Given the description of an element on the screen output the (x, y) to click on. 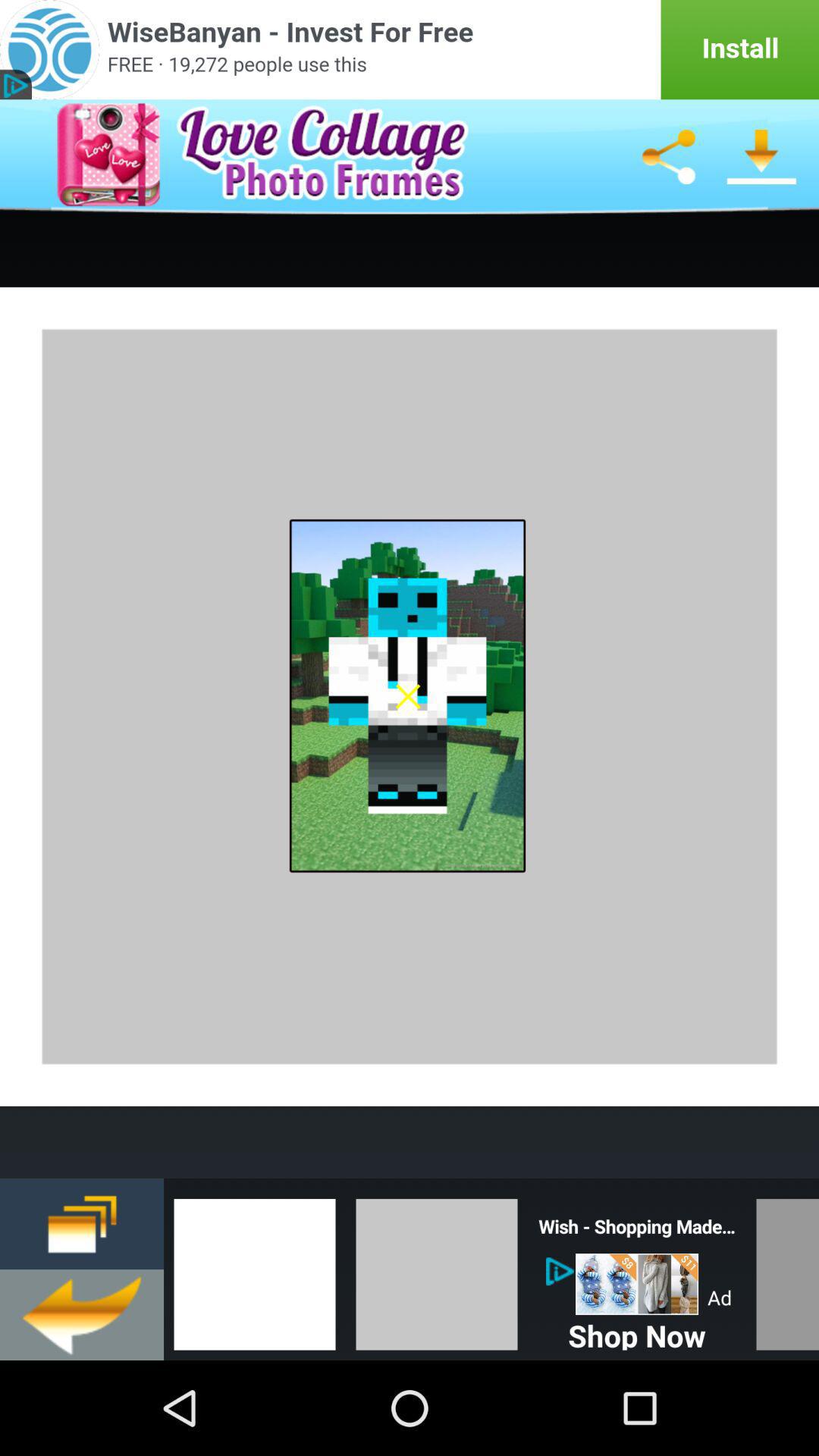
go back (81, 1314)
